Given the description of an element on the screen output the (x, y) to click on. 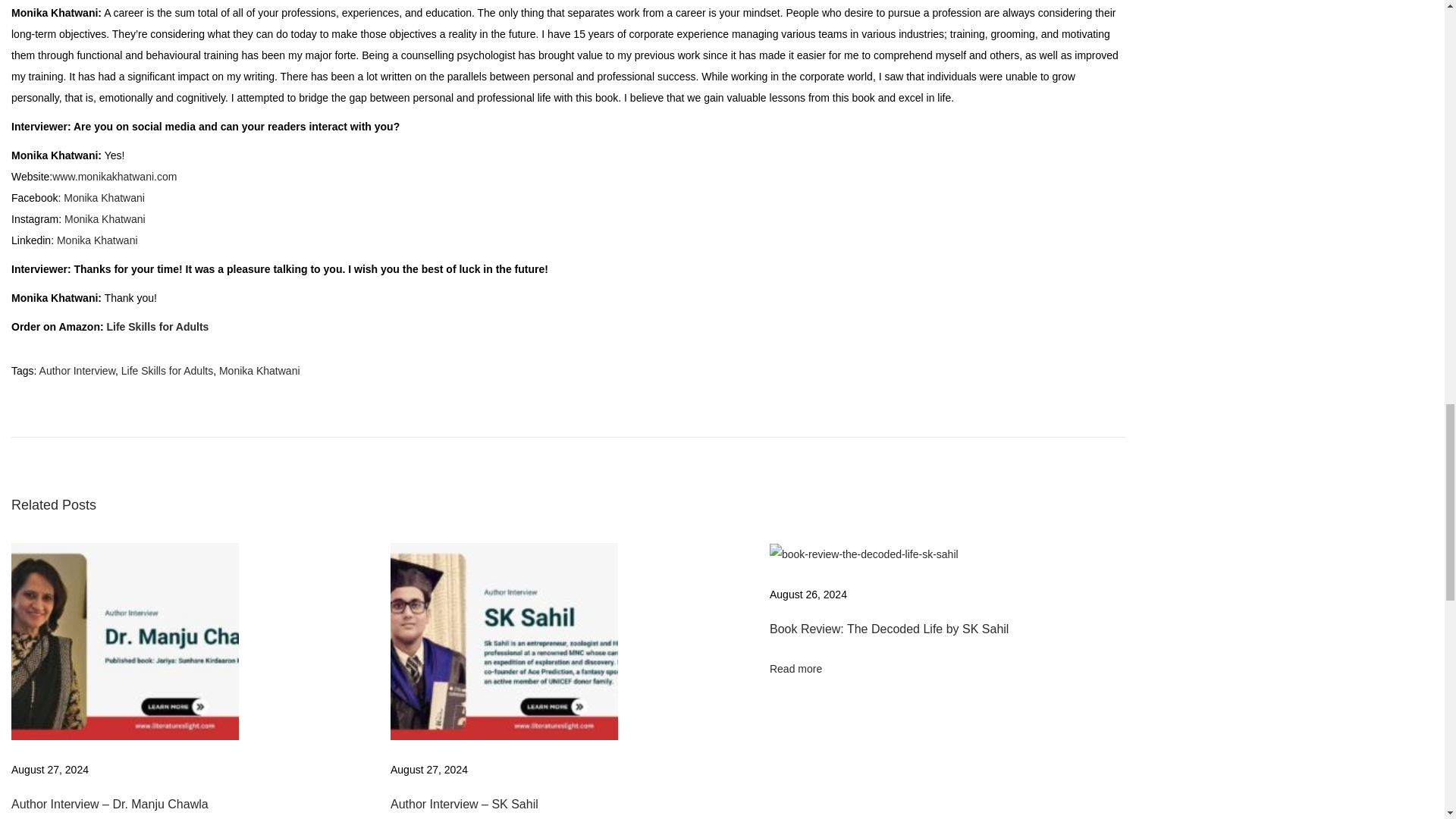
Monika Khatwani (104, 218)
Author Interview (77, 370)
www.monikakhatwani.com (114, 176)
Life Skills for Adults (157, 326)
Monika Khatwani (97, 240)
Monika Khatwani (259, 370)
Life Skills for Adults (166, 370)
Monika Khatwani (104, 197)
